Given the description of an element on the screen output the (x, y) to click on. 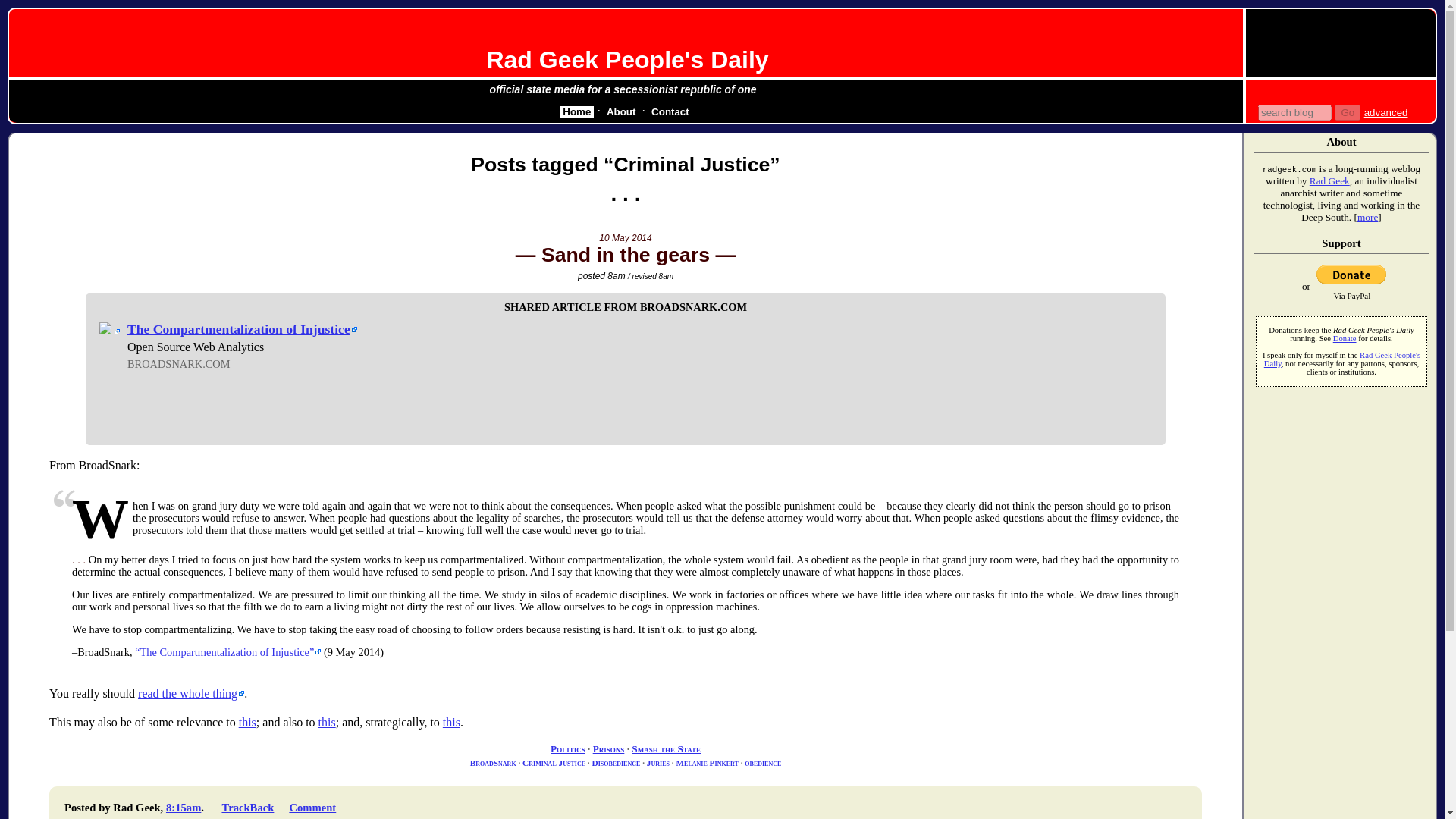
Rad Geek People's Daily (627, 59)
Rad Geek (1328, 180)
Juries (657, 762)
Politics (567, 748)
Contact (670, 111)
Permanent Link to Sand in the gears (625, 254)
obedience (762, 762)
Comment (312, 807)
more (1366, 216)
Disobedience (616, 762)
Prisons (608, 748)
this (451, 721)
Criminal Justice (553, 762)
The Compartmentalization of Injustice (242, 328)
Go (1347, 112)
